Given the description of an element on the screen output the (x, y) to click on. 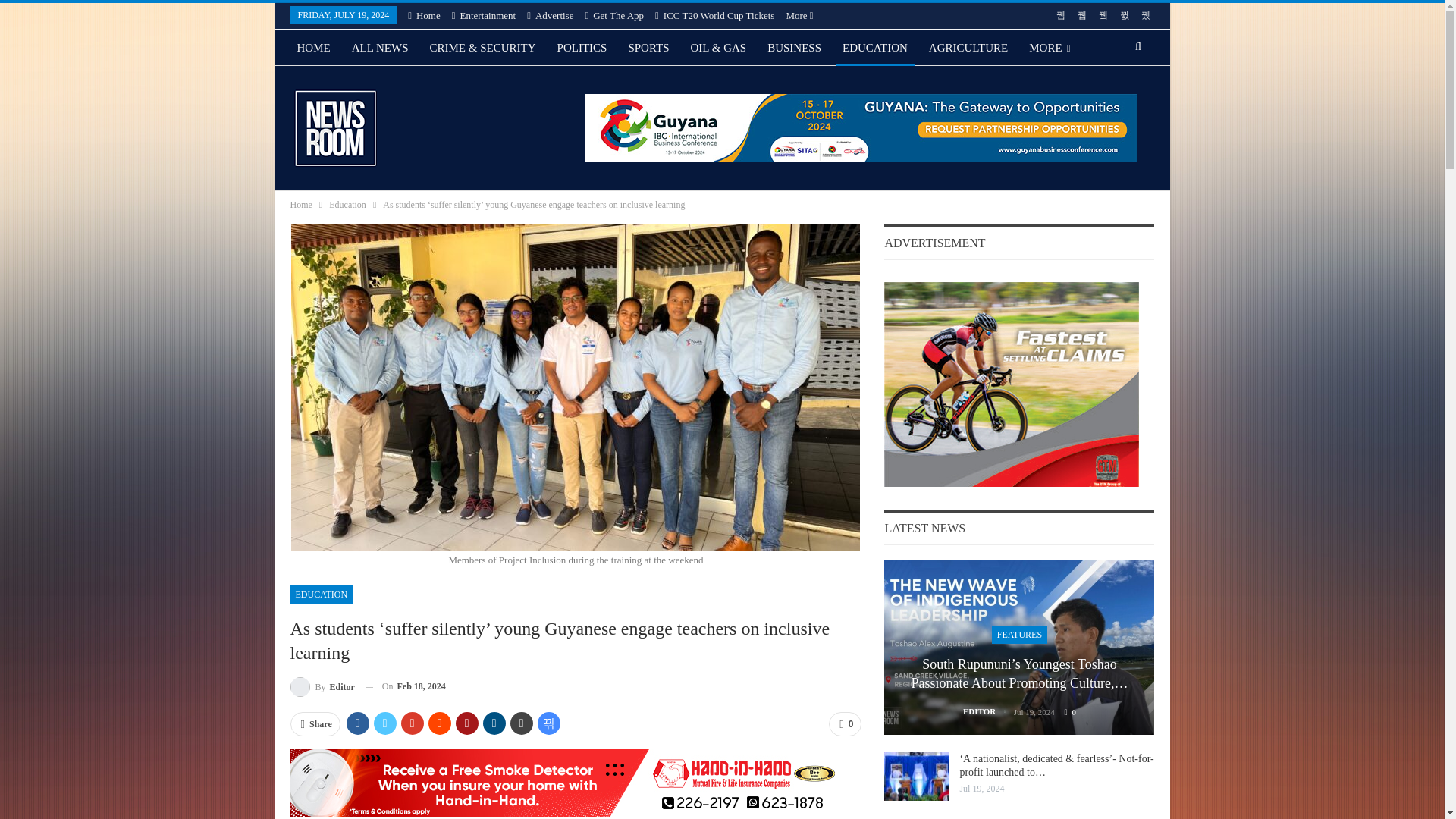
Home (424, 15)
HOME (312, 47)
ALL NEWS (379, 47)
Entertainment (483, 15)
MORE (1049, 47)
Advertise (550, 15)
More (799, 15)
Browse Author Articles (321, 686)
POLITICS (582, 47)
EDUCATION (320, 594)
Home (300, 204)
Education (347, 204)
EDUCATION (874, 47)
ICC T20 World Cup Tickets (714, 15)
BUSINESS (794, 47)
